Given the description of an element on the screen output the (x, y) to click on. 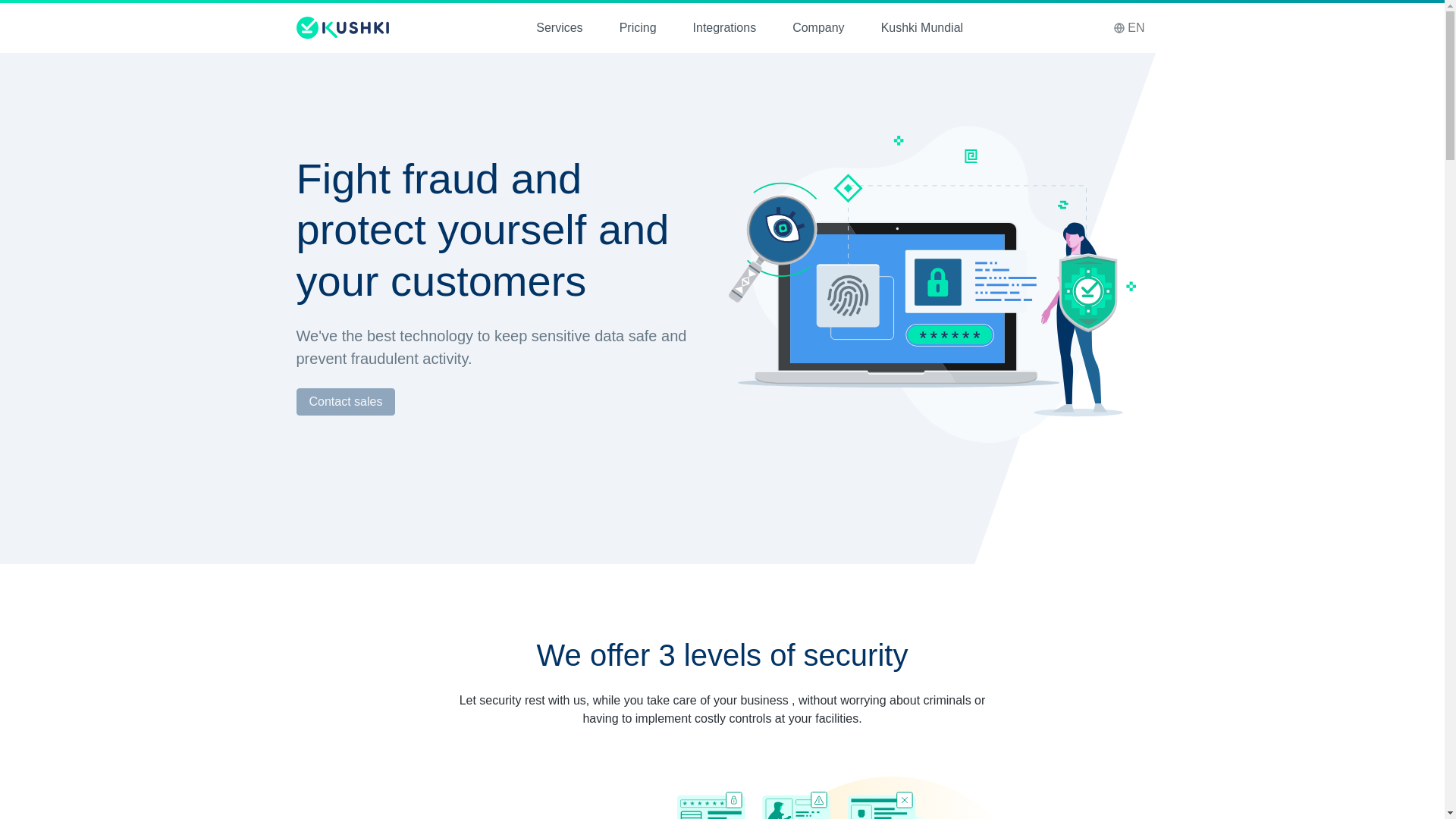
Contact sales (344, 401)
EN (1128, 27)
Kushki Mundial (921, 27)
